Given the description of an element on the screen output the (x, y) to click on. 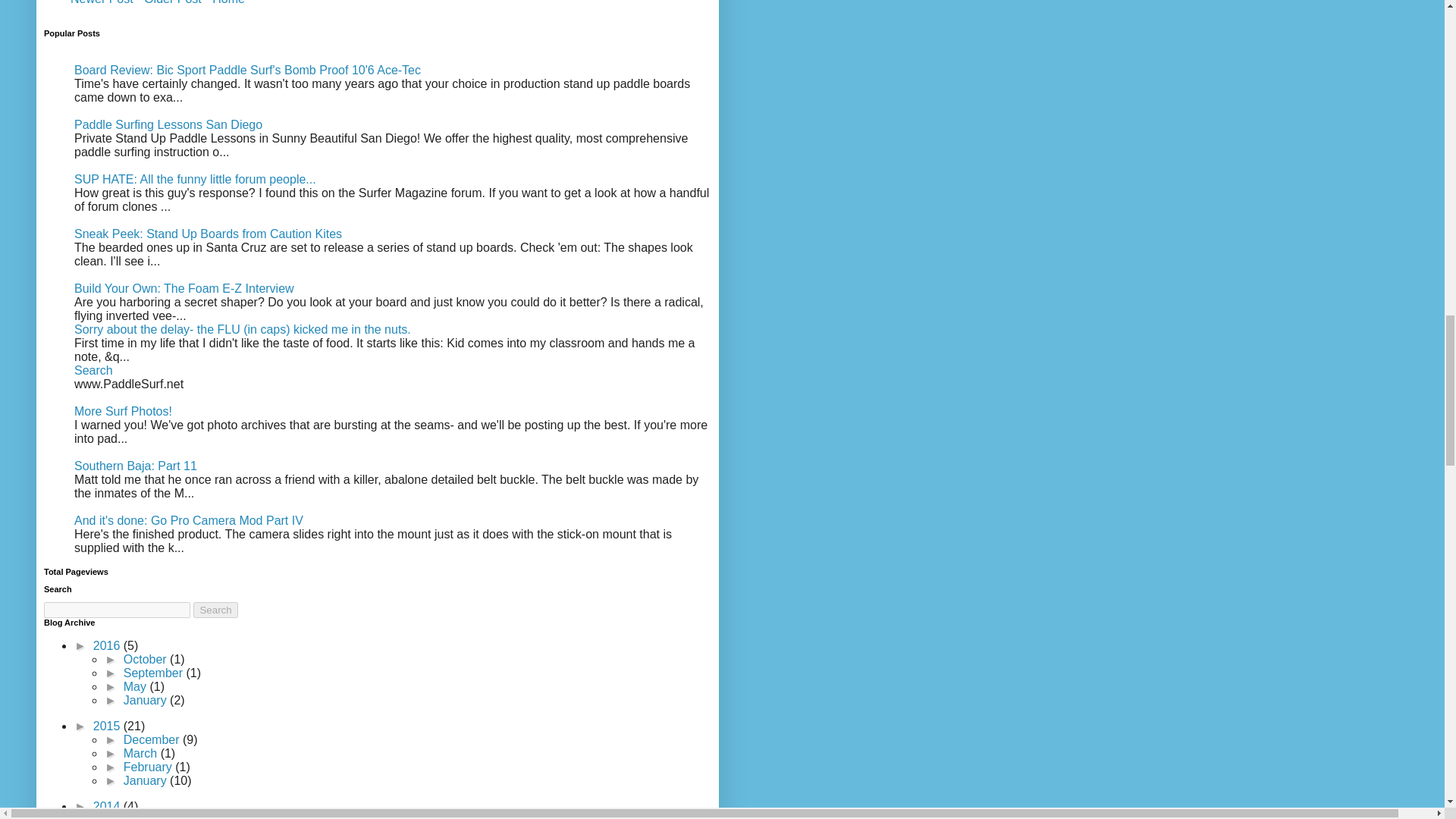
SUP HATE: All the funny little forum people... (194, 178)
Sneak Peek: Stand Up Boards from Caution Kites (208, 233)
More Surf Photos! (122, 410)
Newer Post (101, 4)
Build Your Own: The Foam E-Z Interview (184, 287)
Older Post (172, 4)
Paddle Surfing Lessons San Diego (168, 124)
Search (93, 369)
Newer Post (101, 4)
Search (215, 609)
Home (228, 4)
